Given the description of an element on the screen output the (x, y) to click on. 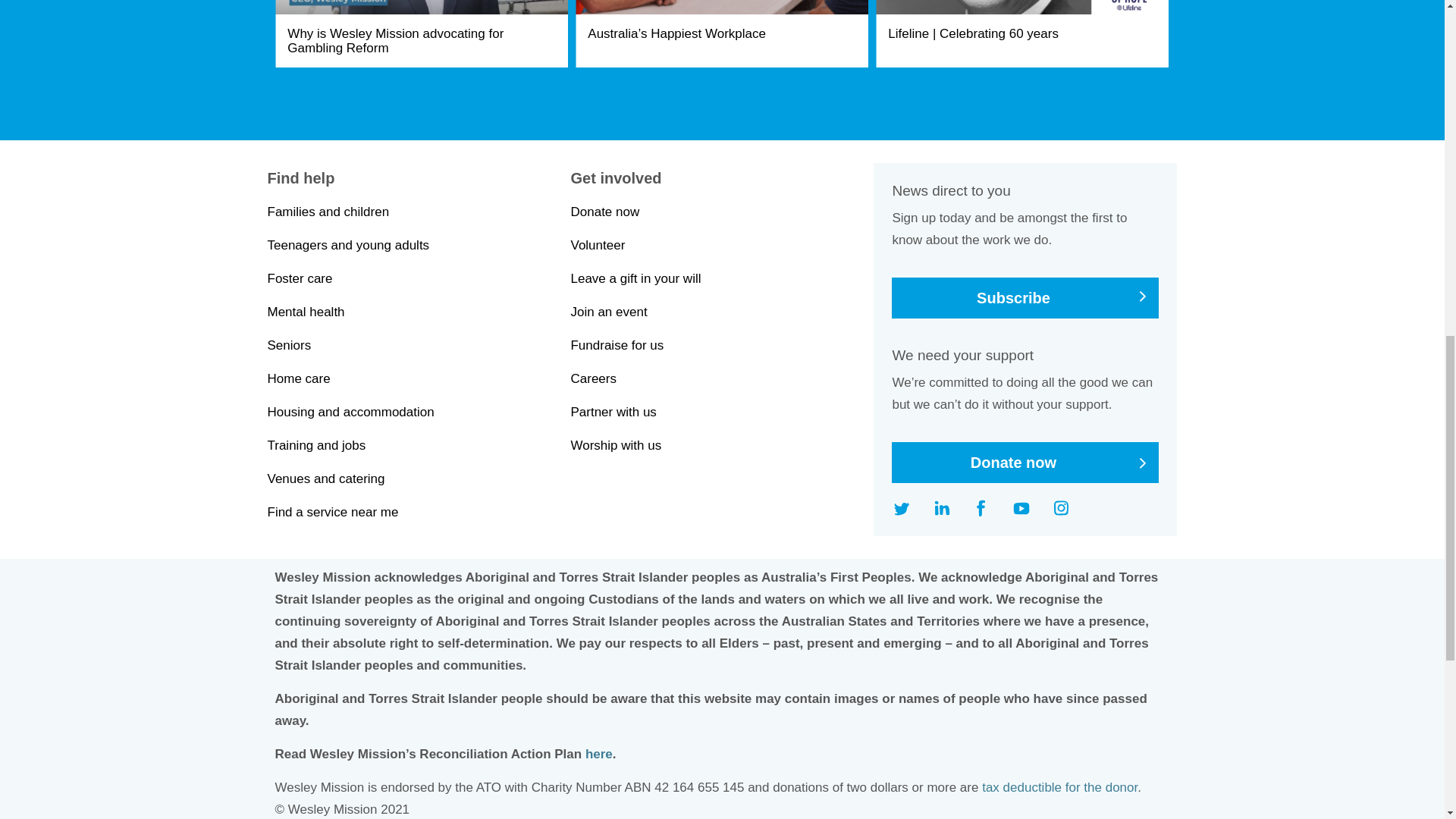
Fundraising policy (1059, 787)
